Given the description of an element on the screen output the (x, y) to click on. 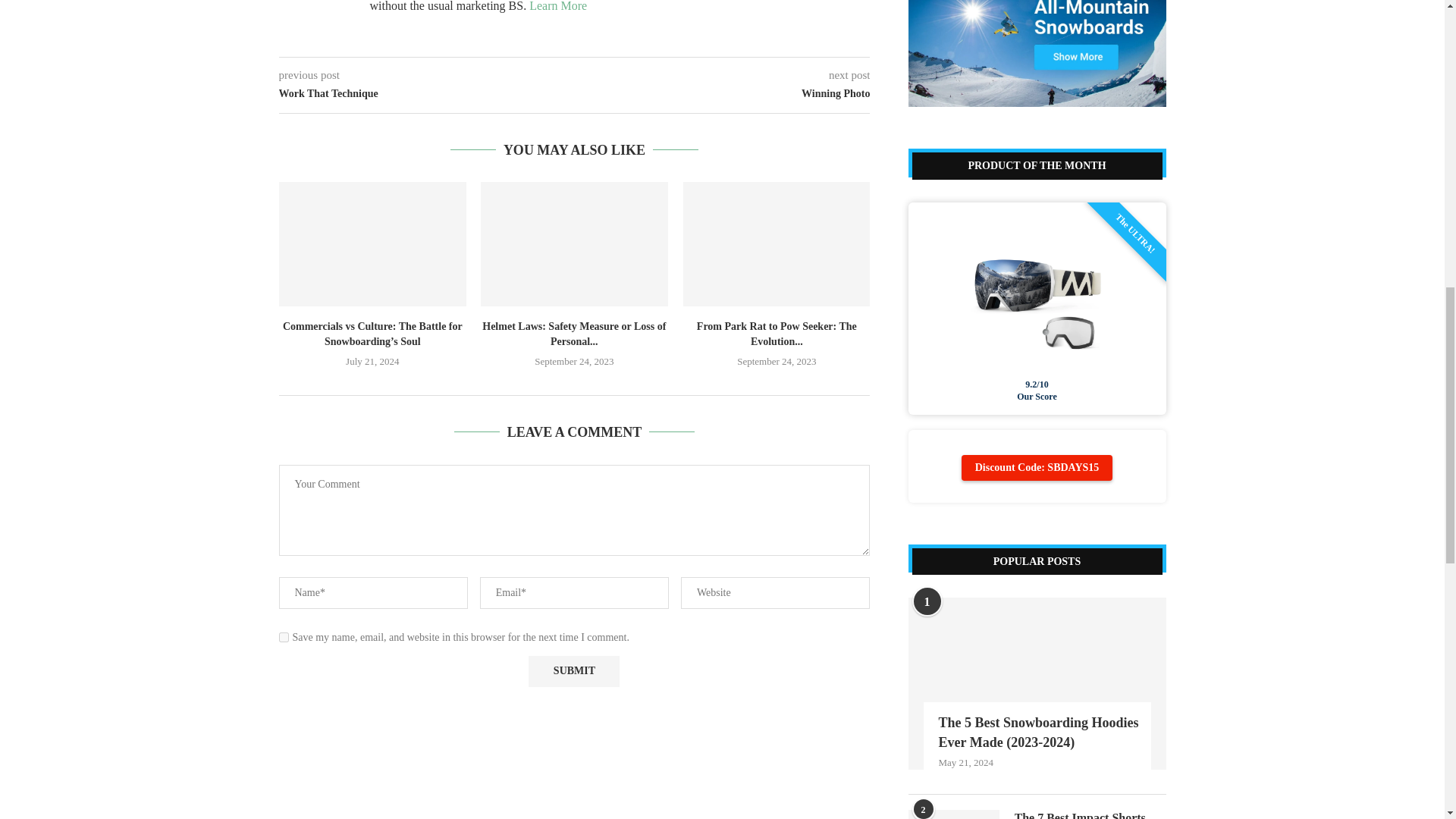
Helmet Laws: Safety Measure or Loss of Personal Freedom? (574, 243)
From Park Rat to Pow Seeker: The Evolution of a Snowboarder! (776, 243)
Submit (574, 671)
yes (283, 637)
